Given the description of an element on the screen output the (x, y) to click on. 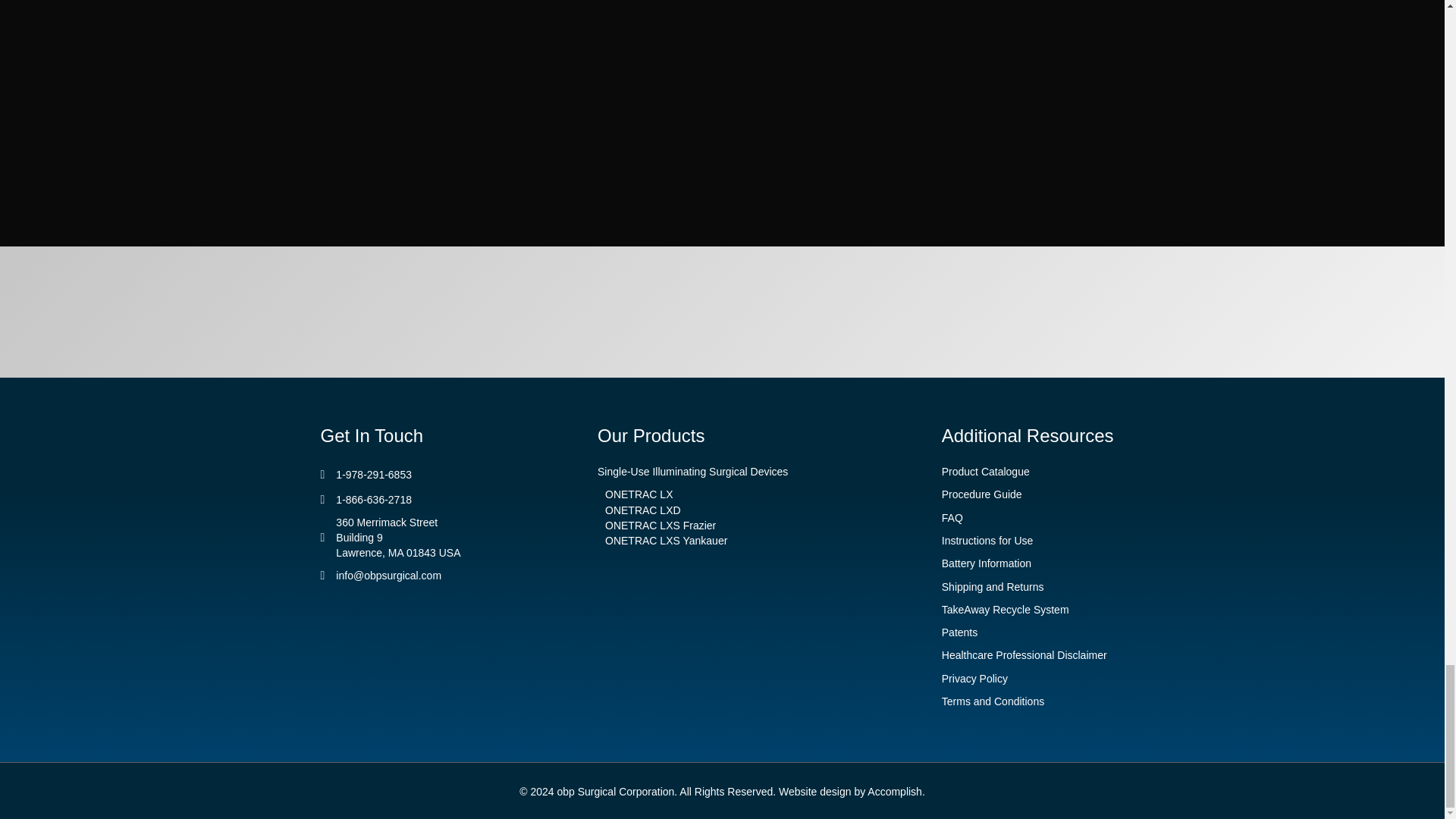
Battery Information (986, 563)
Shipping and Returns (992, 585)
1-978-291-6853 (374, 474)
Procedure Guide (982, 494)
FAQ (952, 517)
Instructions for Use (987, 540)
Product Catalogue (985, 471)
ONETRAC LXD (643, 510)
ONETRAC LXS Frazier (660, 525)
ONETRAC LXS Yankauer (665, 540)
